Given the description of an element on the screen output the (x, y) to click on. 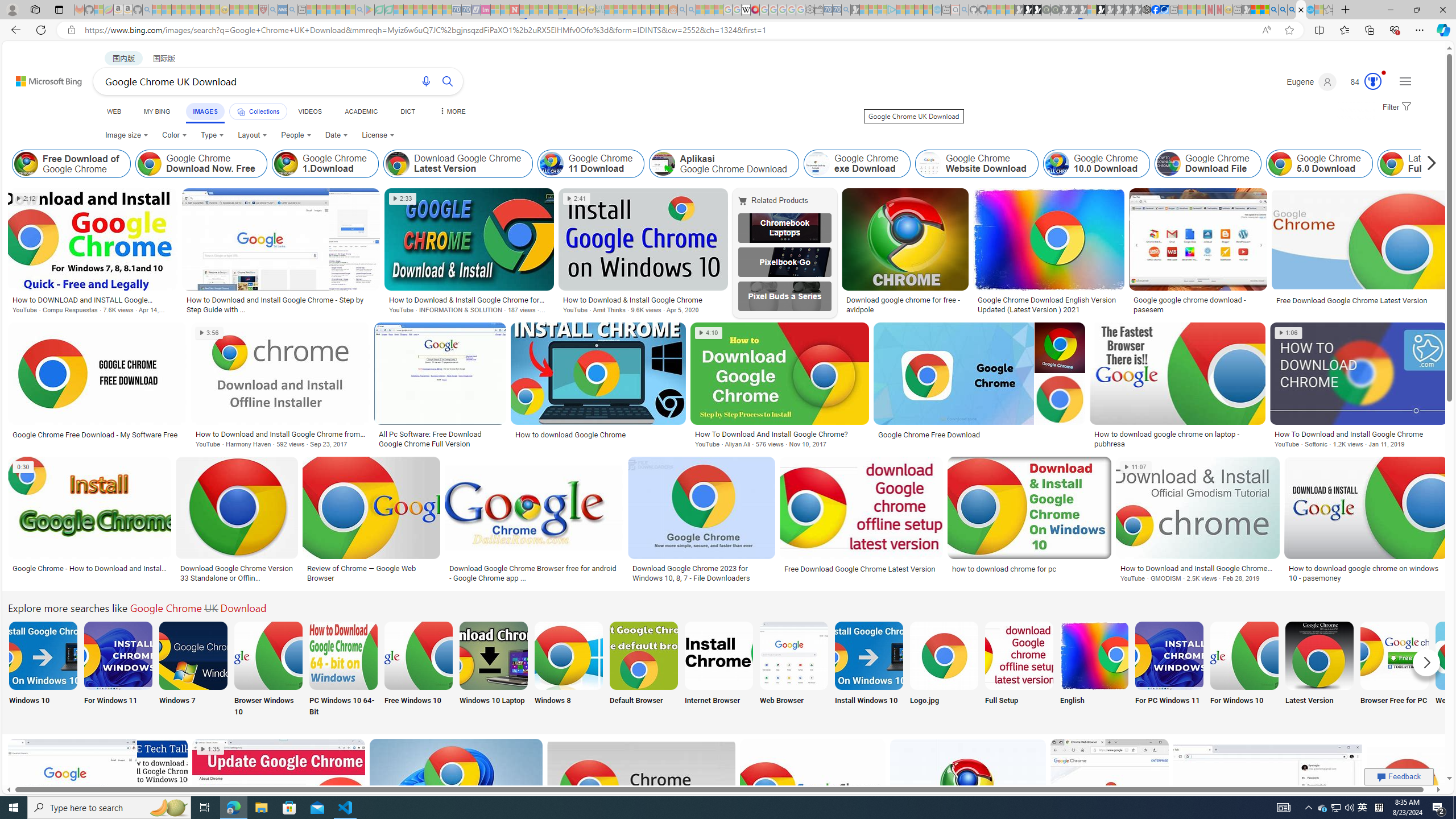
Image size (126, 135)
How to download Google Chrome (570, 434)
Windows 8 (568, 669)
Google Chrome Download English (1093, 654)
Layout (252, 135)
AirNow.gov (1163, 9)
Full Setup (1018, 669)
